Given the description of an element on the screen output the (x, y) to click on. 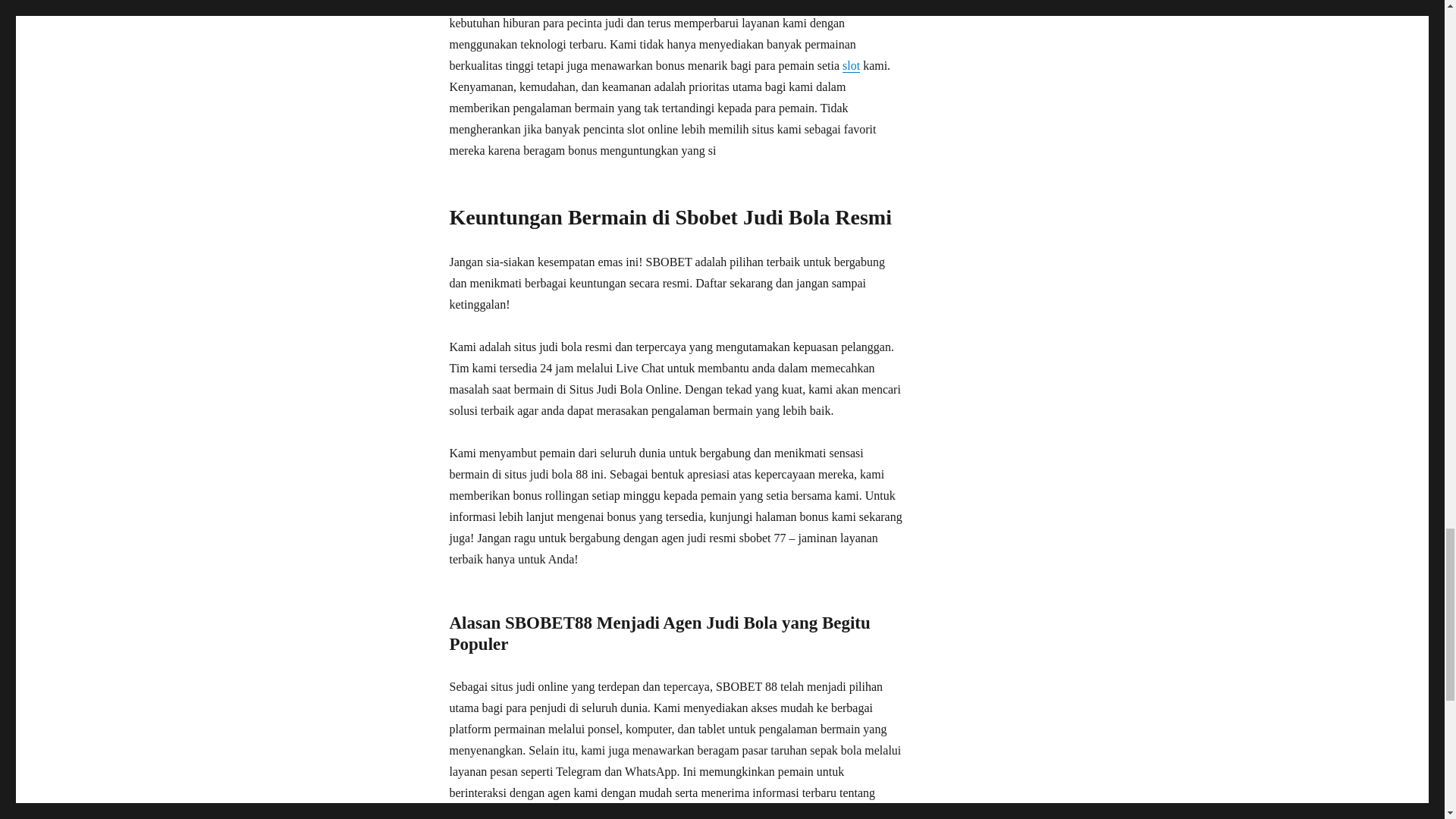
slot (851, 65)
